Given the description of an element on the screen output the (x, y) to click on. 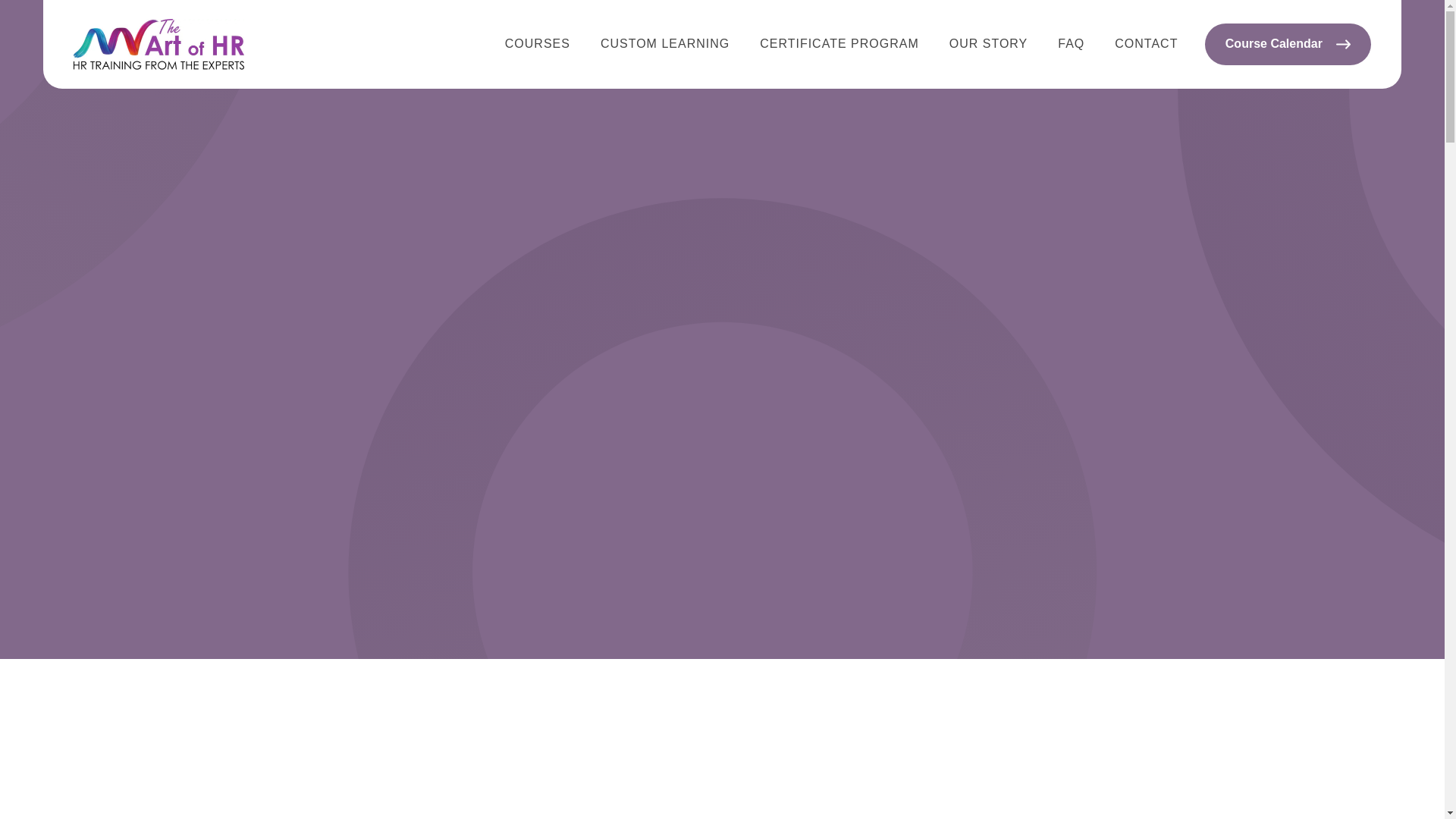
CONTACT (1146, 44)
OUR STORY (988, 44)
CUSTOM LEARNING (664, 44)
Course Calendar (1287, 43)
CERTIFICATE PROGRAM (839, 44)
COURSES (537, 44)
